Given the description of an element on the screen output the (x, y) to click on. 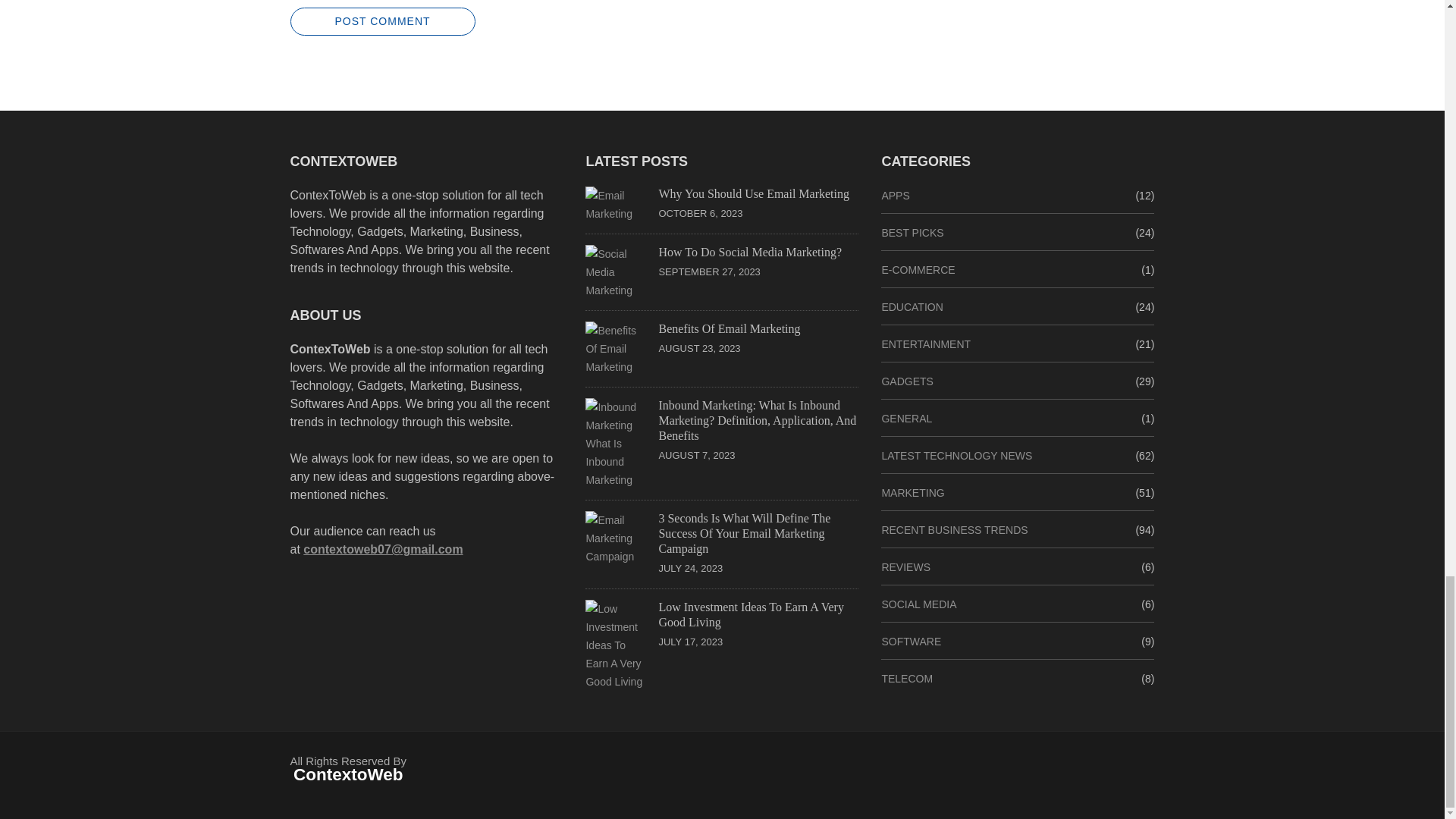
Why You Should Use Email Marketing (753, 193)
Post Comment (381, 21)
Post Comment (381, 21)
